Given the description of an element on the screen output the (x, y) to click on. 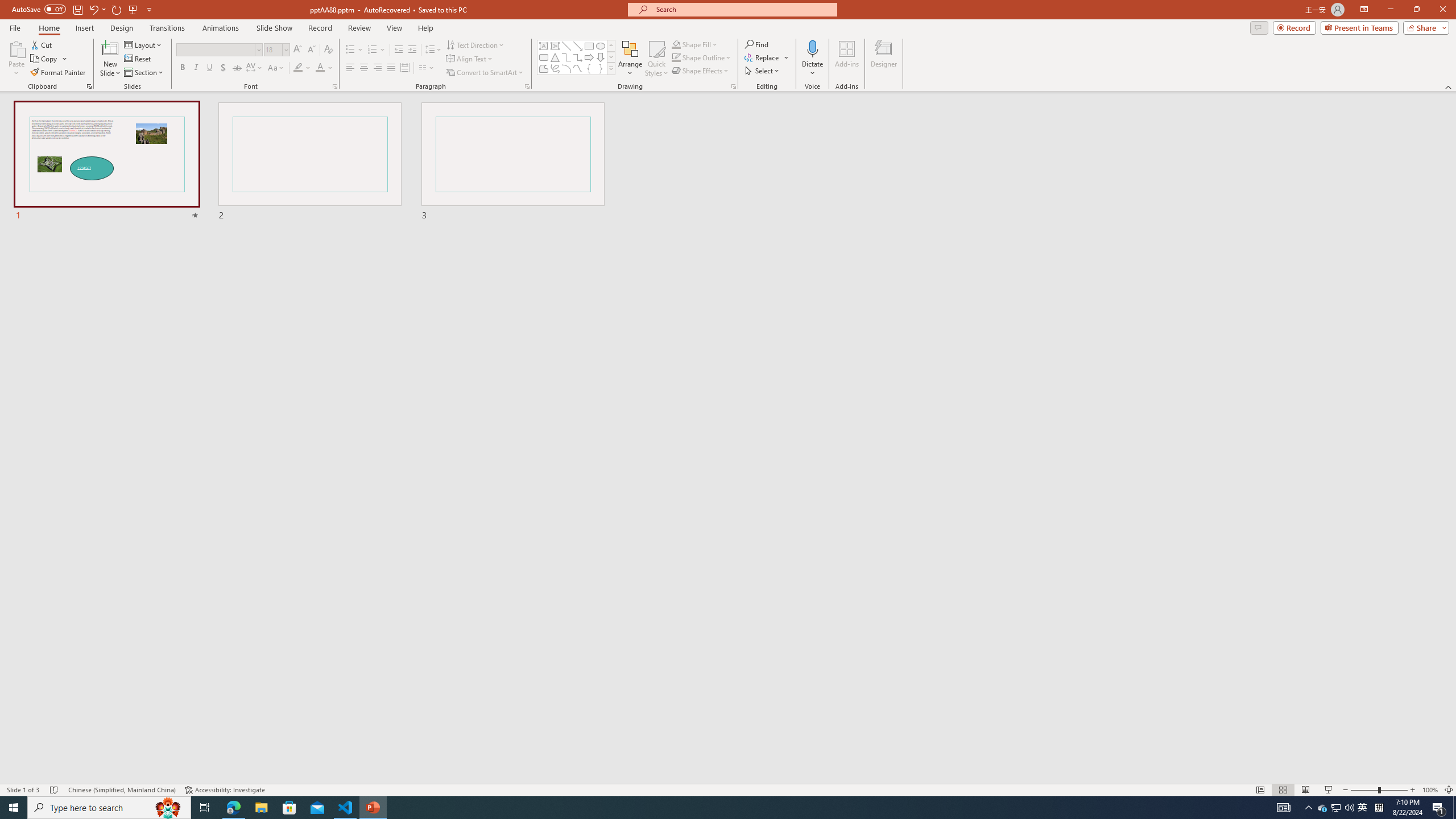
Rectangle: Rounded Corners (543, 57)
Line (566, 45)
Change Case (276, 67)
Decrease Font Size (310, 49)
Character Spacing (254, 67)
Oval (600, 45)
Arrow: Down (600, 57)
Strikethrough (237, 67)
Shape Fill Aqua, Accent 2 (675, 44)
